Given the description of an element on the screen output the (x, y) to click on. 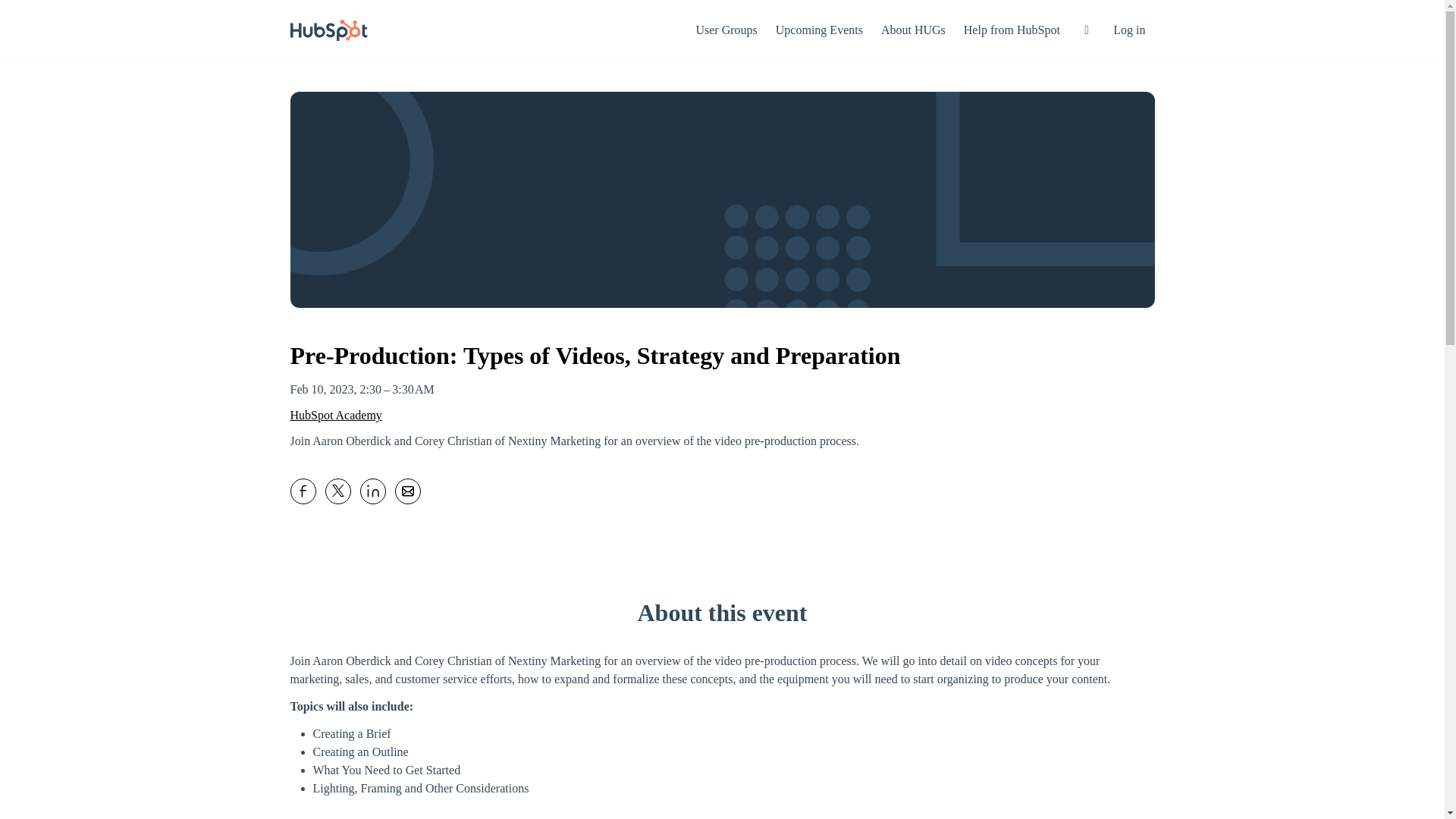
Help from HubSpot (1011, 30)
Upcoming Events (819, 30)
User Groups (725, 30)
HubSpot Academy (335, 415)
About HUGs (913, 30)
